Given the description of an element on the screen output the (x, y) to click on. 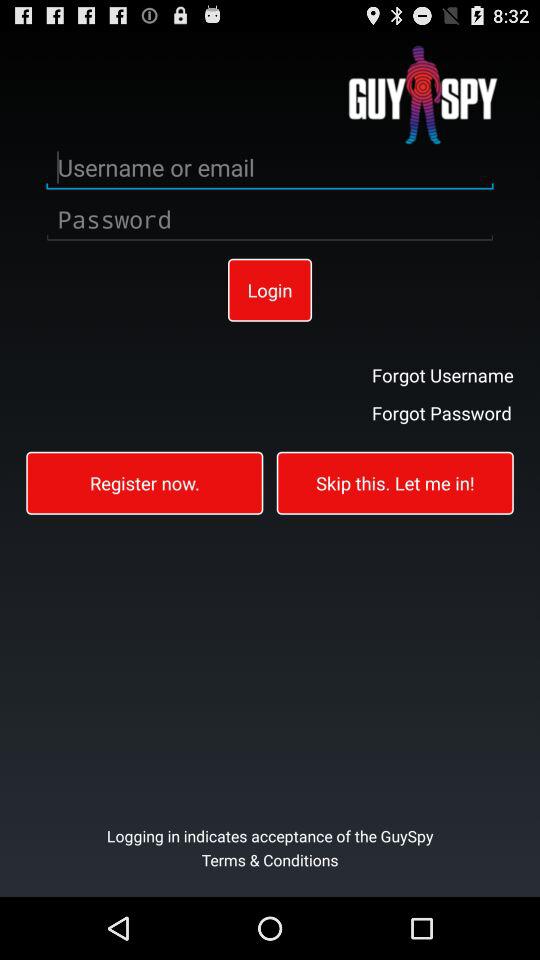
jump until forgot password icon (442, 412)
